Given the description of an element on the screen output the (x, y) to click on. 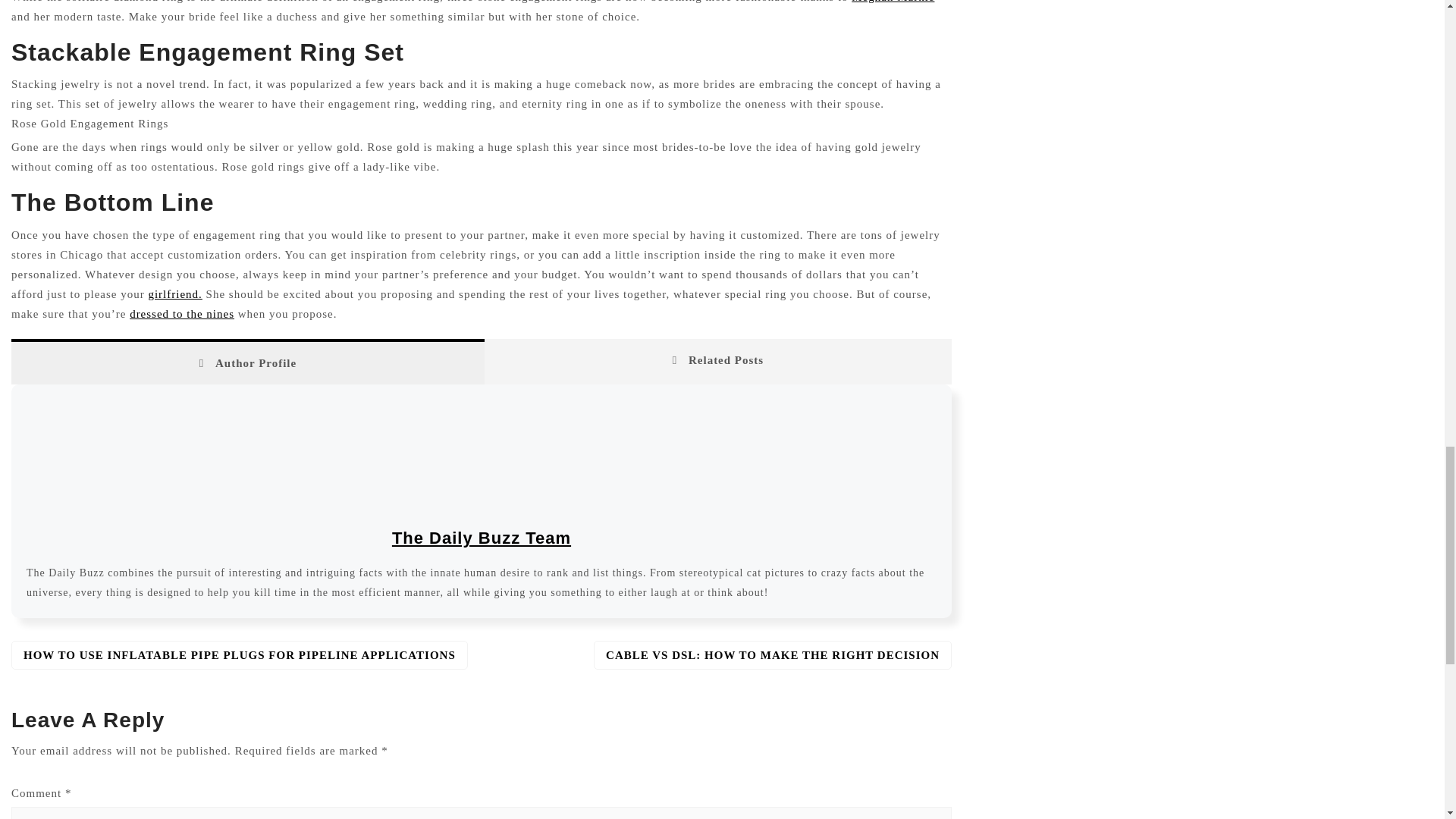
Meghan Markle (892, 1)
CABLE VS DSL: HOW TO MAKE THE RIGHT DECISION (773, 654)
The Daily Buzz Team (480, 537)
dressed to the nines (181, 313)
HOW TO USE INFLATABLE PIPE PLUGS FOR PIPELINE APPLICATIONS (239, 654)
girlfriend. (175, 294)
